Given the description of an element on the screen output the (x, y) to click on. 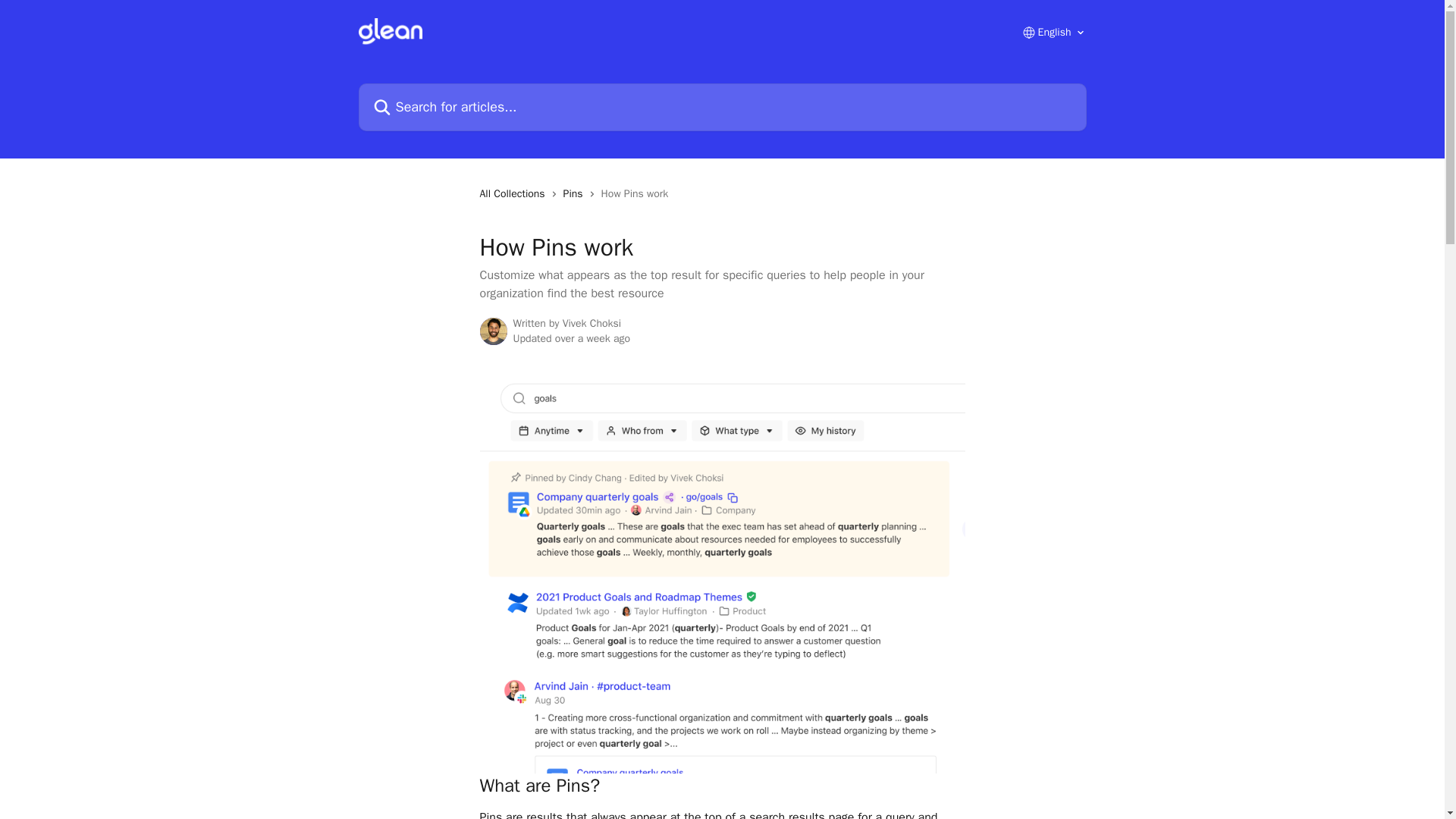
All Collections (514, 193)
Pins (576, 193)
